Given the description of an element on the screen output the (x, y) to click on. 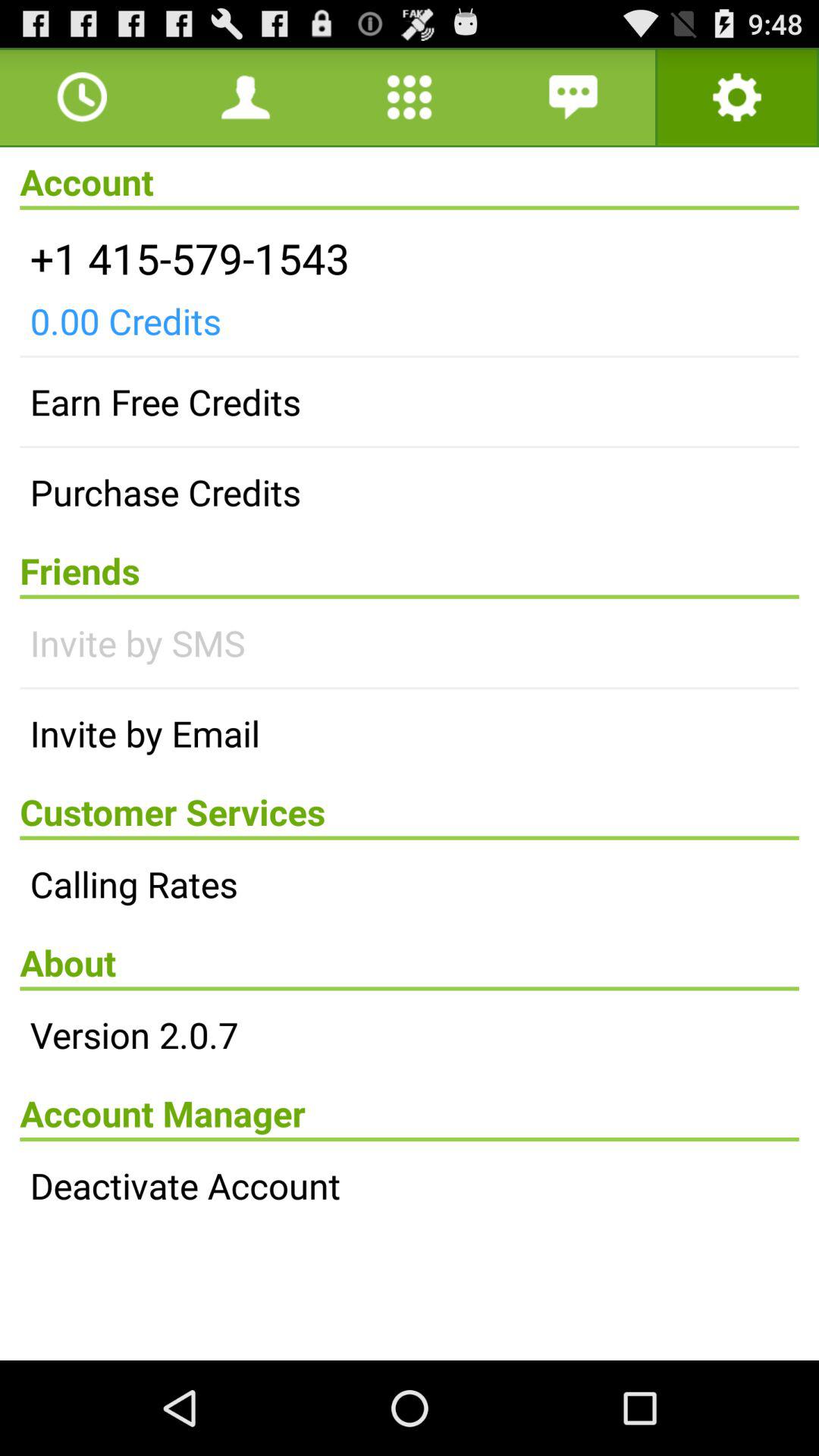
launch earn free credits (409, 401)
